Given the description of an element on the screen output the (x, y) to click on. 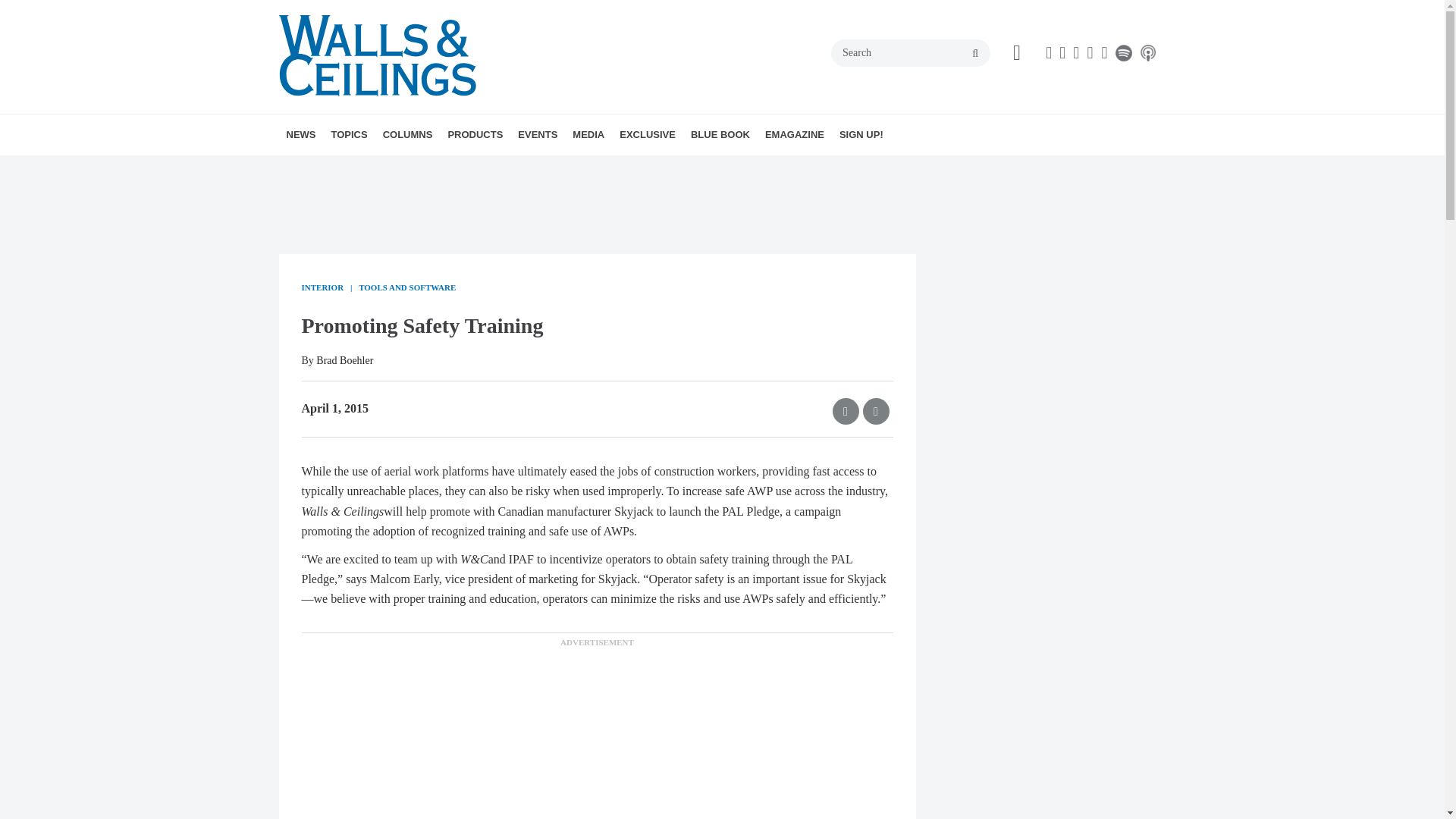
TOOLS AND SOFTWARE (457, 167)
cart (1016, 52)
Search (910, 52)
INTERIOR (459, 167)
TOPICS (348, 134)
WOMEN IN CONSTRUCTION (464, 167)
INSULATION (454, 167)
youtube (1089, 53)
Search (910, 52)
NEWS (301, 134)
search (975, 53)
youtube (1103, 53)
UP FRONT (493, 167)
COLUMNS (408, 134)
INDUSTRY VOICES (483, 167)
